Given the description of an element on the screen output the (x, y) to click on. 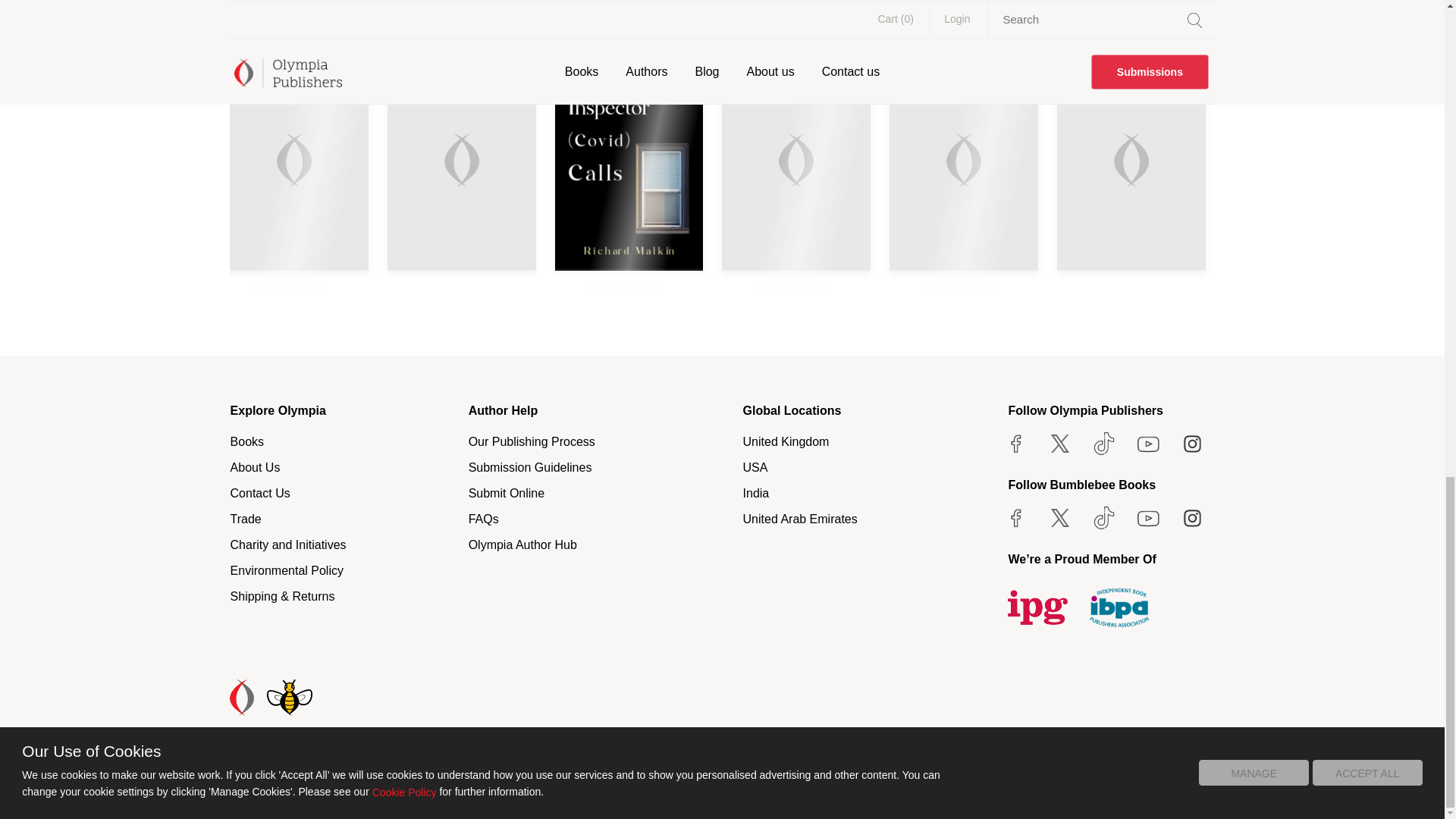
Follow on Tiktok (1103, 517)
Our Youtube Channel (1148, 443)
Follow Bumblebee on Twitter (1059, 517)
Follow us on Instagram (1191, 443)
Follow us on TikTok (1103, 443)
Bumblebee Youtube Channel (1148, 517)
Like Us on Facebook (1015, 443)
Like Bumblebee on Facebook (1015, 517)
Follow Bumblebee on Instagram (1191, 517)
Follow us on Twitter (1059, 443)
